Given the description of an element on the screen output the (x, y) to click on. 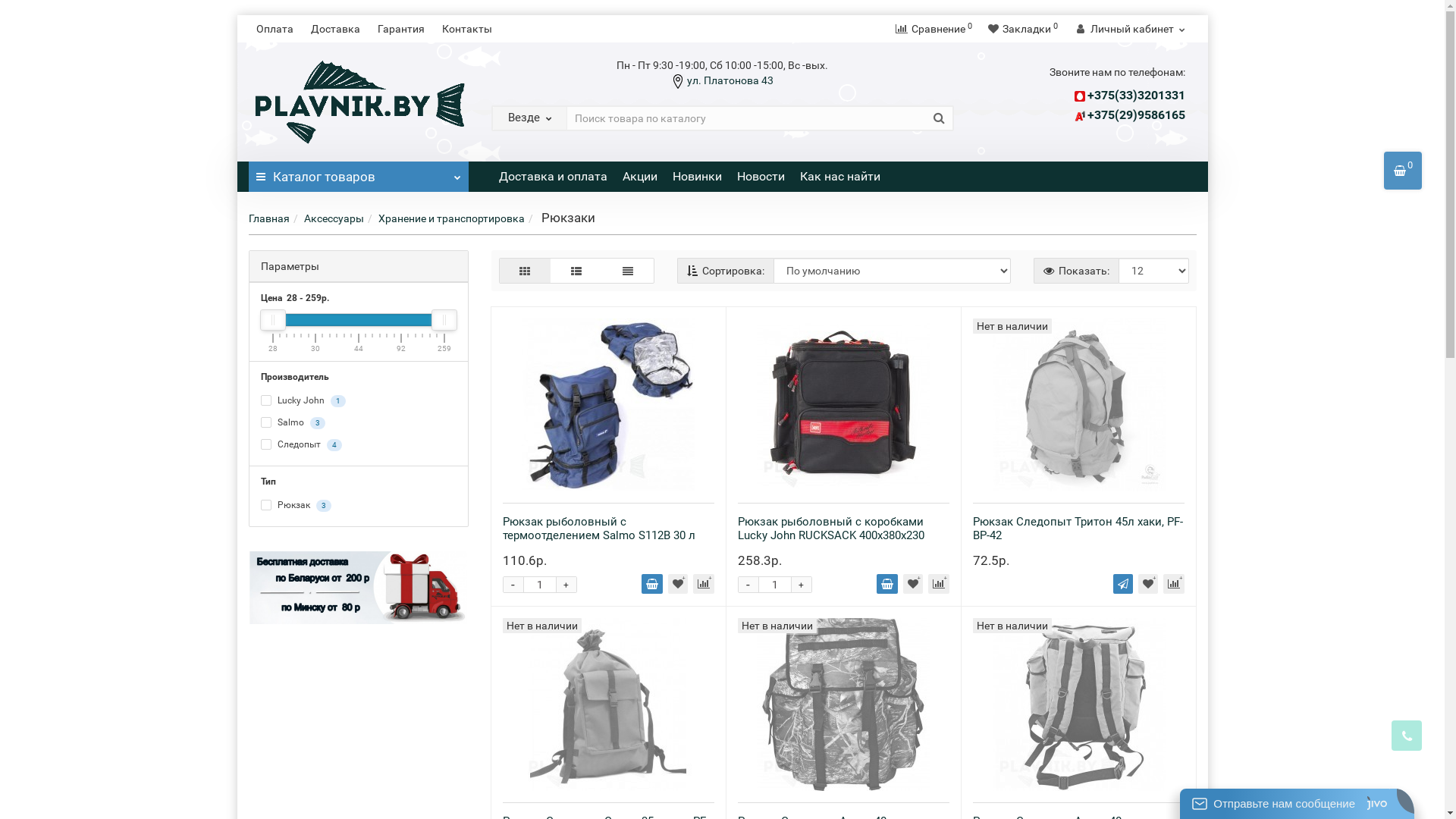
0 Element type: text (1402, 170)
- Element type: text (748, 584)
+375(33)3201331 Element type: text (1136, 94)
- Element type: text (513, 584)
+375(29)9586165 Element type: text (1136, 115)
+ Element type: text (566, 584)
+ Element type: text (801, 584)
